Given the description of an element on the screen output the (x, y) to click on. 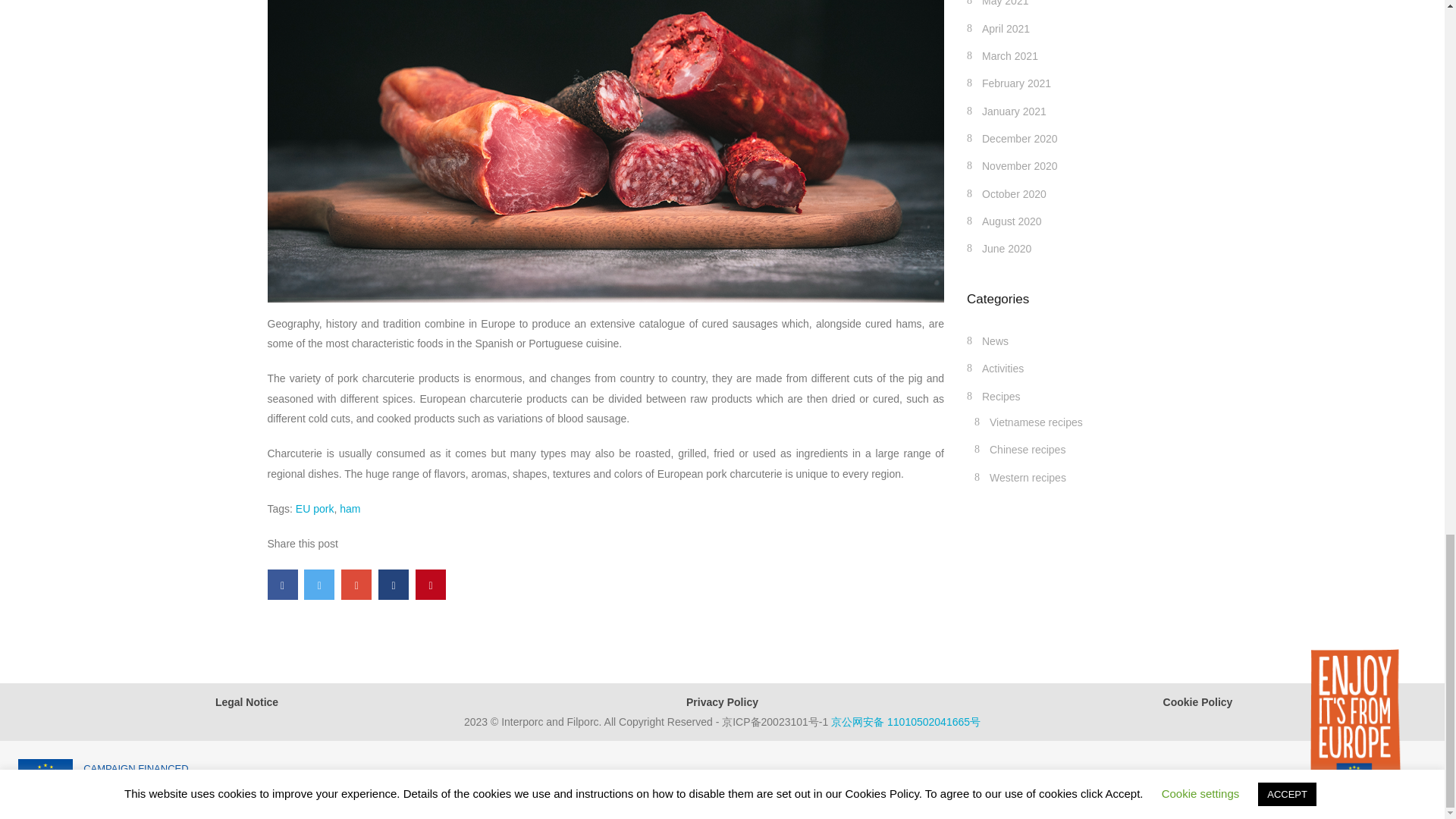
ham (349, 508)
EU pork (314, 508)
